Given the description of an element on the screen output the (x, y) to click on. 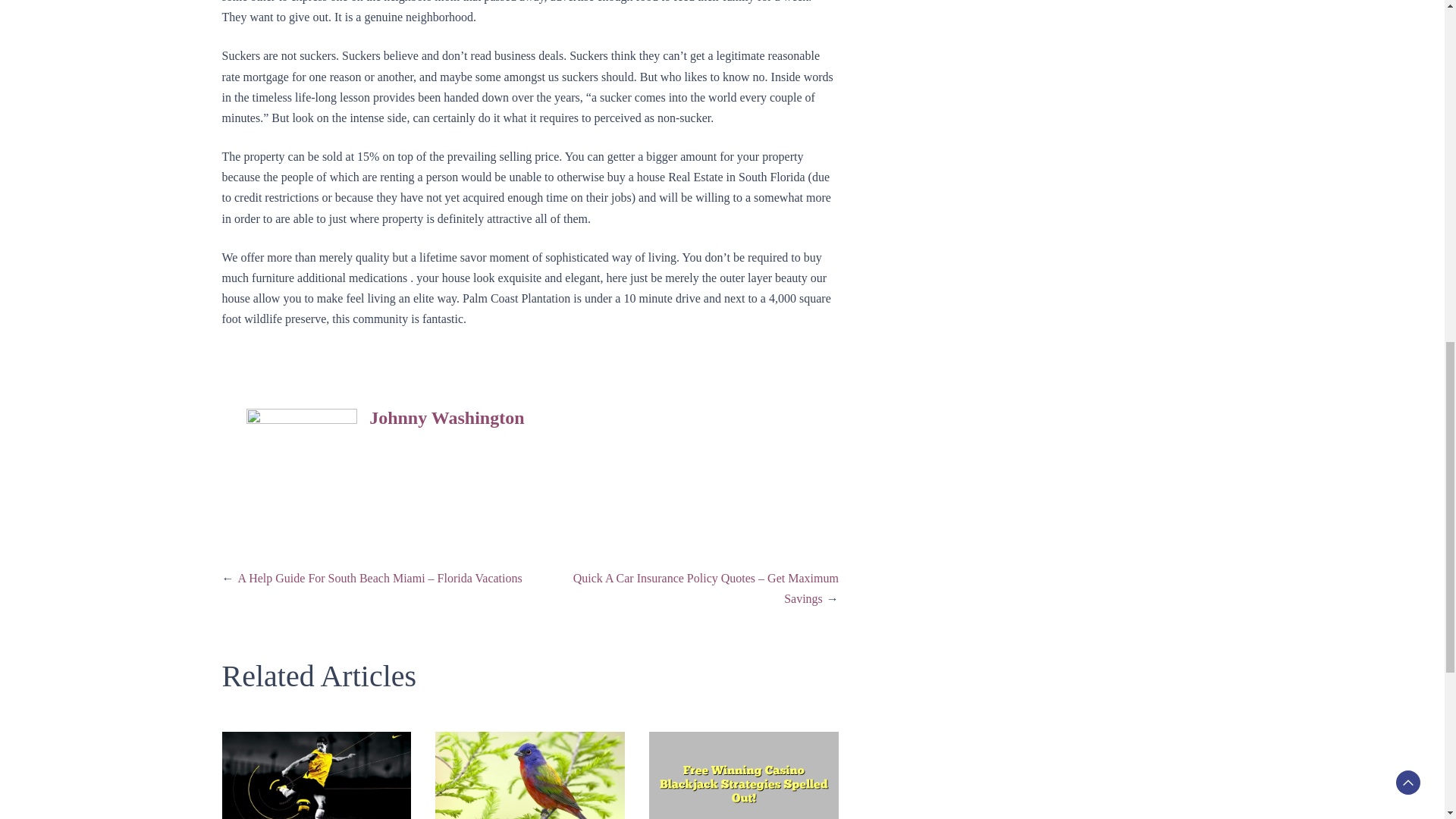
Johnny Washington (446, 417)
